Given the description of an element on the screen output the (x, y) to click on. 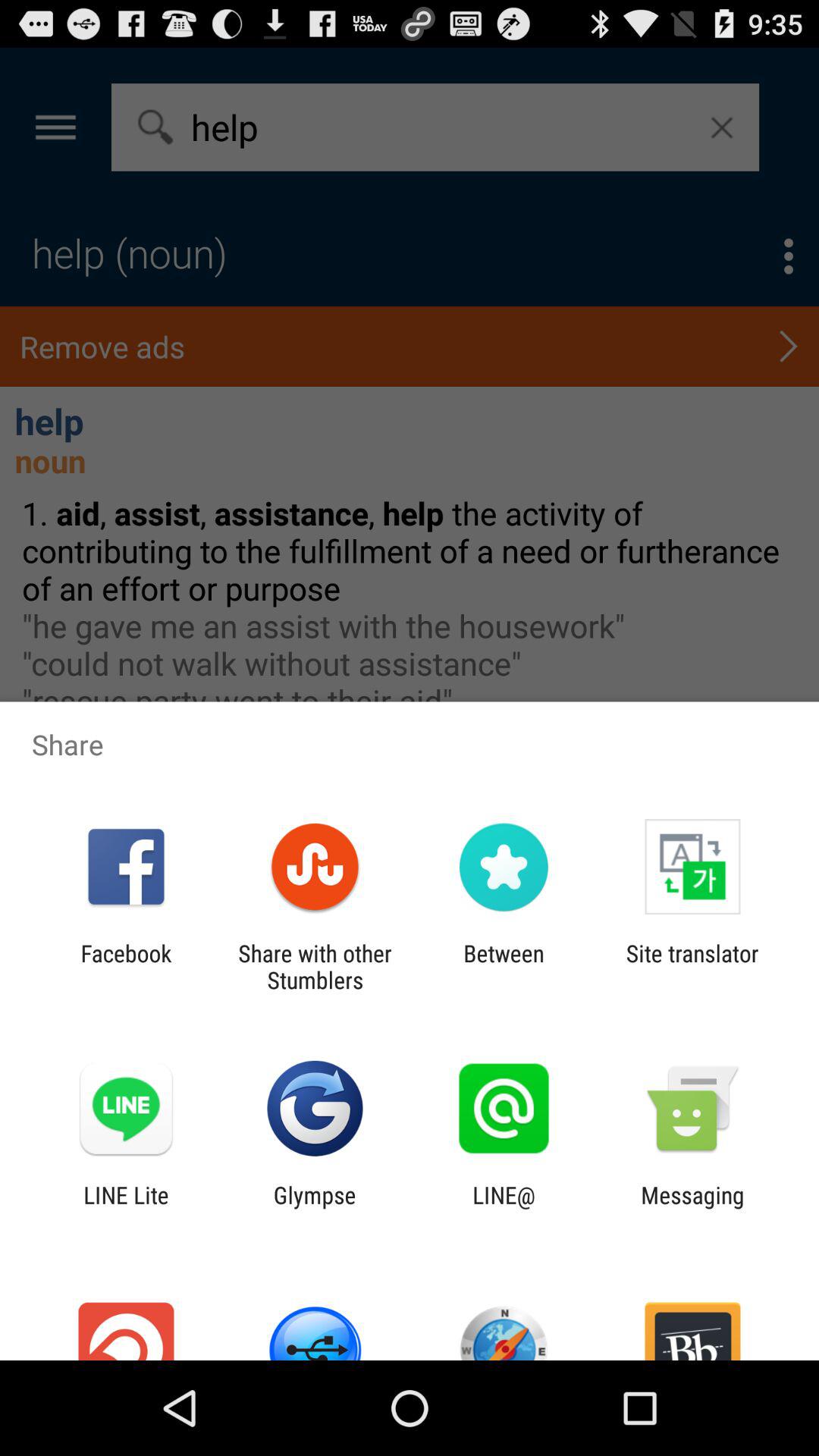
click the messaging app (692, 1208)
